Given the description of an element on the screen output the (x, y) to click on. 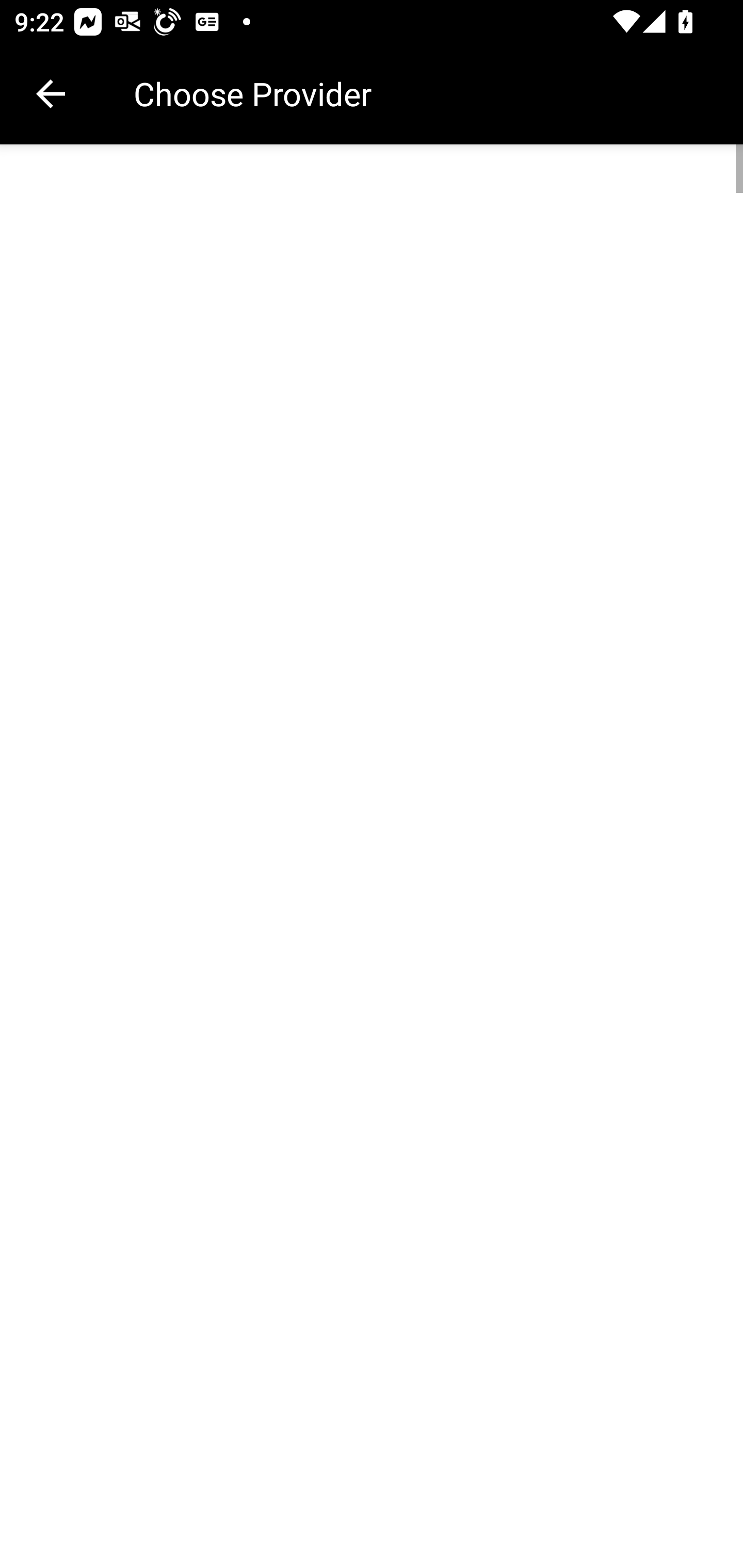
Navigate up (50, 93)
